Given the description of an element on the screen output the (x, y) to click on. 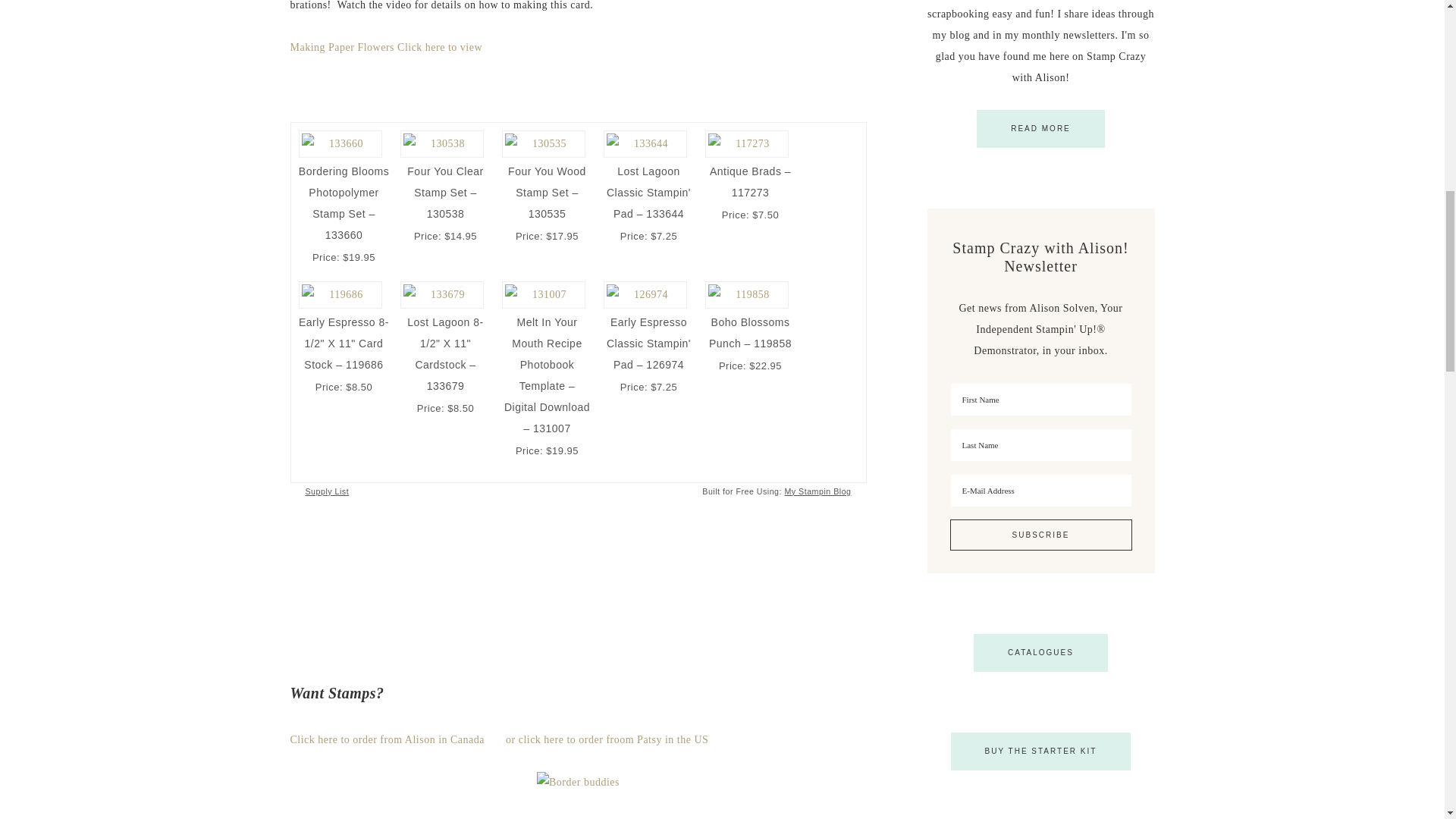
shop stamps to die for  (606, 739)
Subscribe (1040, 534)
Making Paper Flowers Click here to view (385, 47)
Making paper flowers with Stampin' Up! Boho Punch (385, 47)
Border buddies (578, 782)
shop stamp scrazy with alison online  (386, 739)
